Given the description of an element on the screen output the (x, y) to click on. 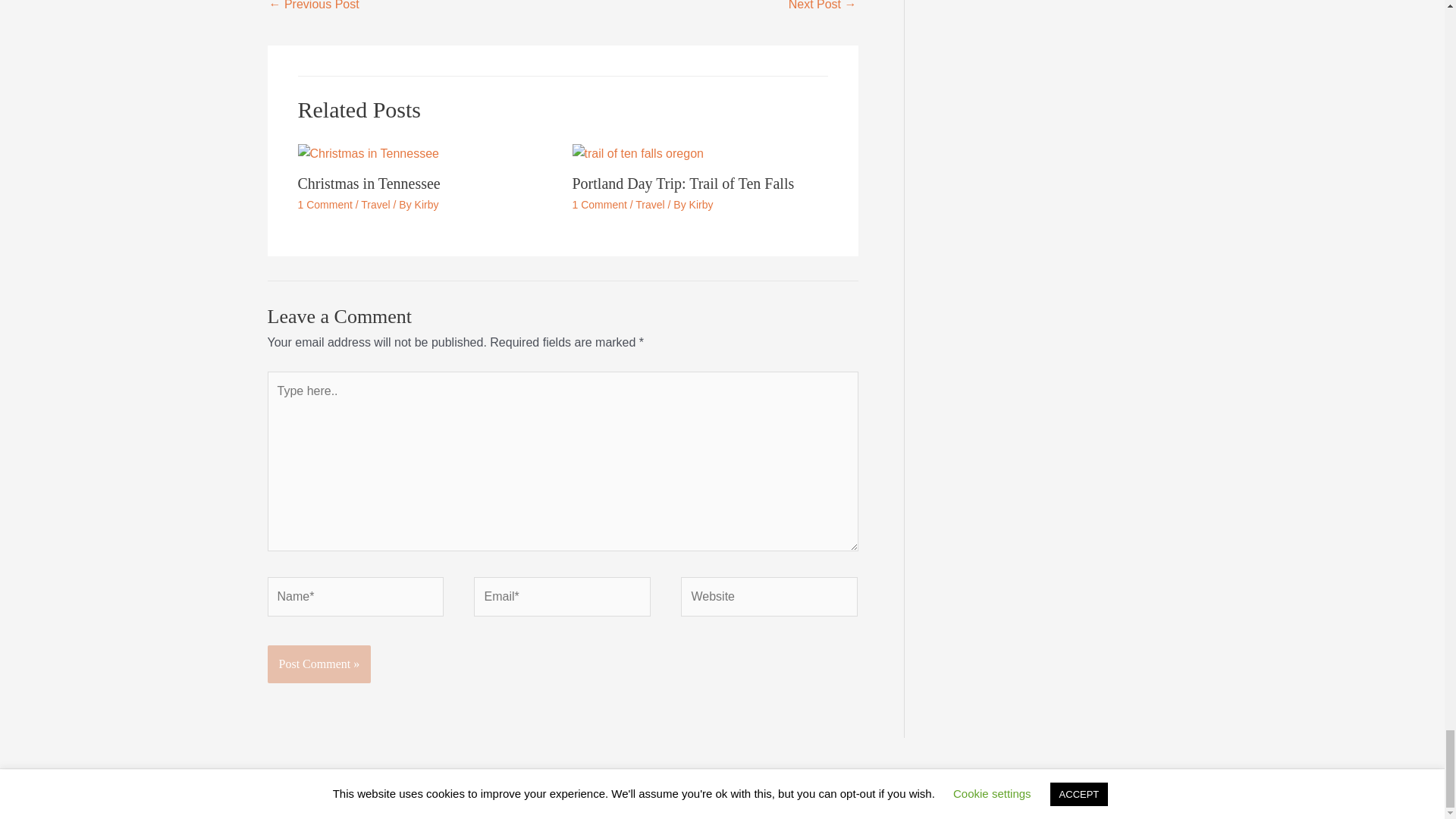
Kirby (426, 204)
Travel (375, 204)
View all posts by Kirby (700, 204)
Christmas in Tennessee (368, 183)
Travel (648, 204)
1 Comment (324, 204)
Baked Whipped Feta Dip (823, 9)
1 Comment (599, 204)
Kirby (700, 204)
View all posts by Kirby (426, 204)
Za'atar Carrot Bowl (312, 9)
Portland Day Trip: Trail of Ten Falls (682, 183)
